Given the description of an element on the screen output the (x, y) to click on. 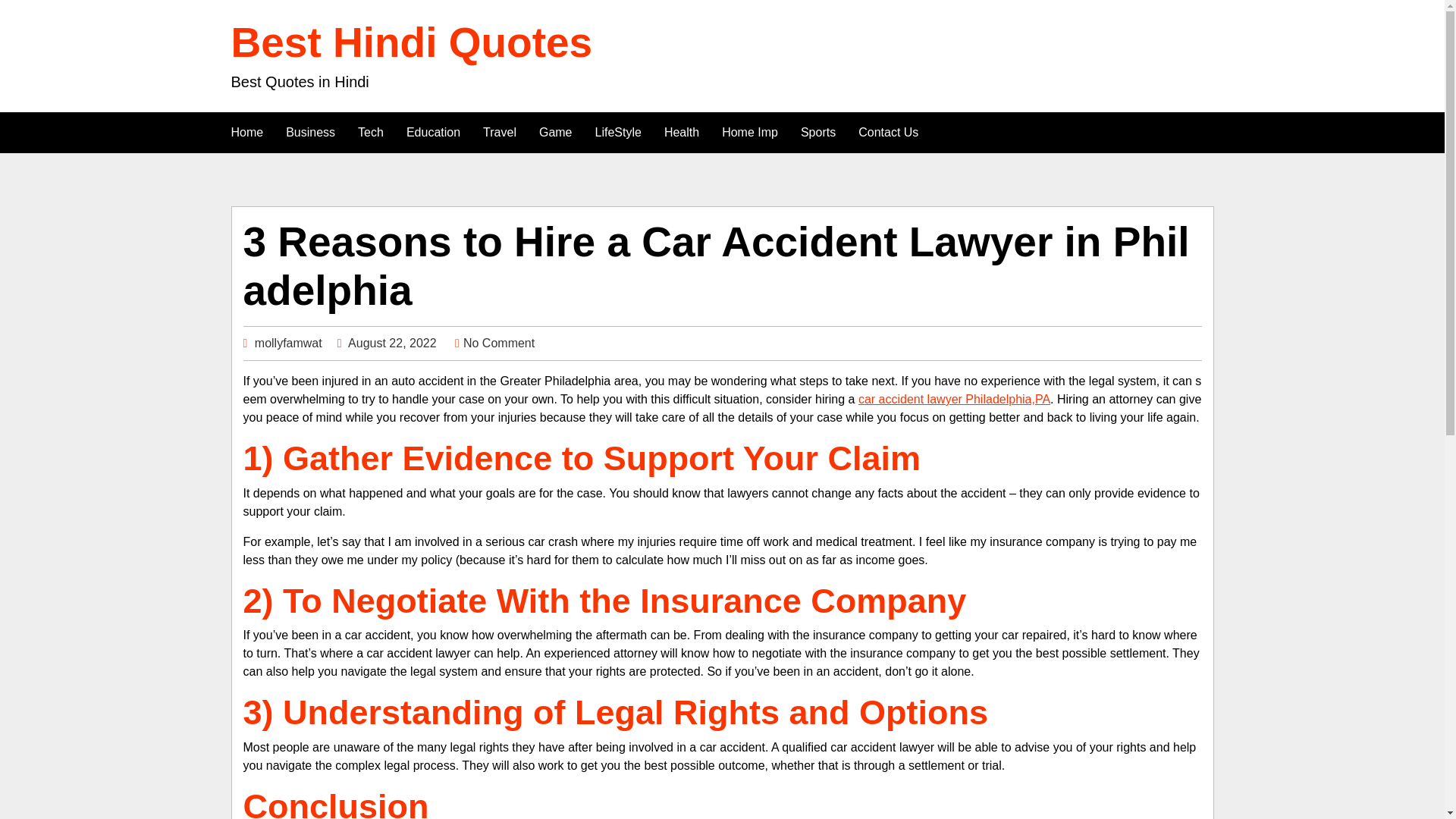
Home Imp (749, 132)
Tech (370, 132)
Business (310, 132)
No Comment (498, 342)
mollyfamwat (287, 342)
Health (681, 132)
Education (432, 132)
Game (555, 132)
Sports (818, 132)
August 22, 2022 (391, 342)
LifeStyle (617, 132)
Best Hindi Quotes (411, 42)
Travel (499, 132)
car accident lawyer Philadelphia,PA (954, 399)
Contact Us (888, 132)
